Given the description of an element on the screen output the (x, y) to click on. 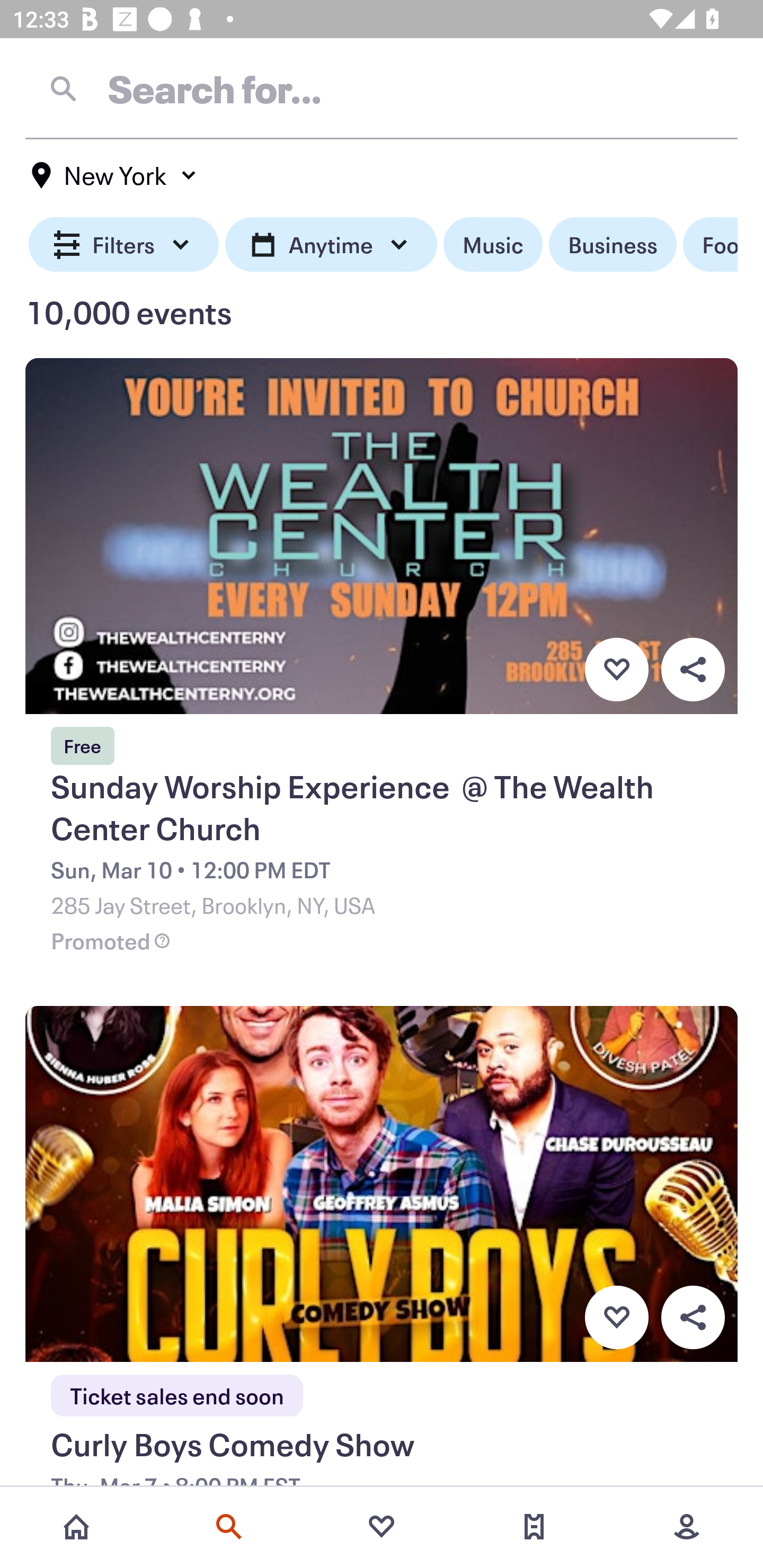
Search for… (381, 88)
New York (114, 175)
Filters (123, 244)
Anytime (331, 244)
Music (492, 244)
Business (612, 244)
Favorite button (616, 669)
Overflow menu button (692, 669)
Favorite button (616, 1317)
Overflow menu button (692, 1317)
Home (76, 1526)
Search events (228, 1526)
Favorites (381, 1526)
Tickets (533, 1526)
More (686, 1526)
